Given the description of an element on the screen output the (x, y) to click on. 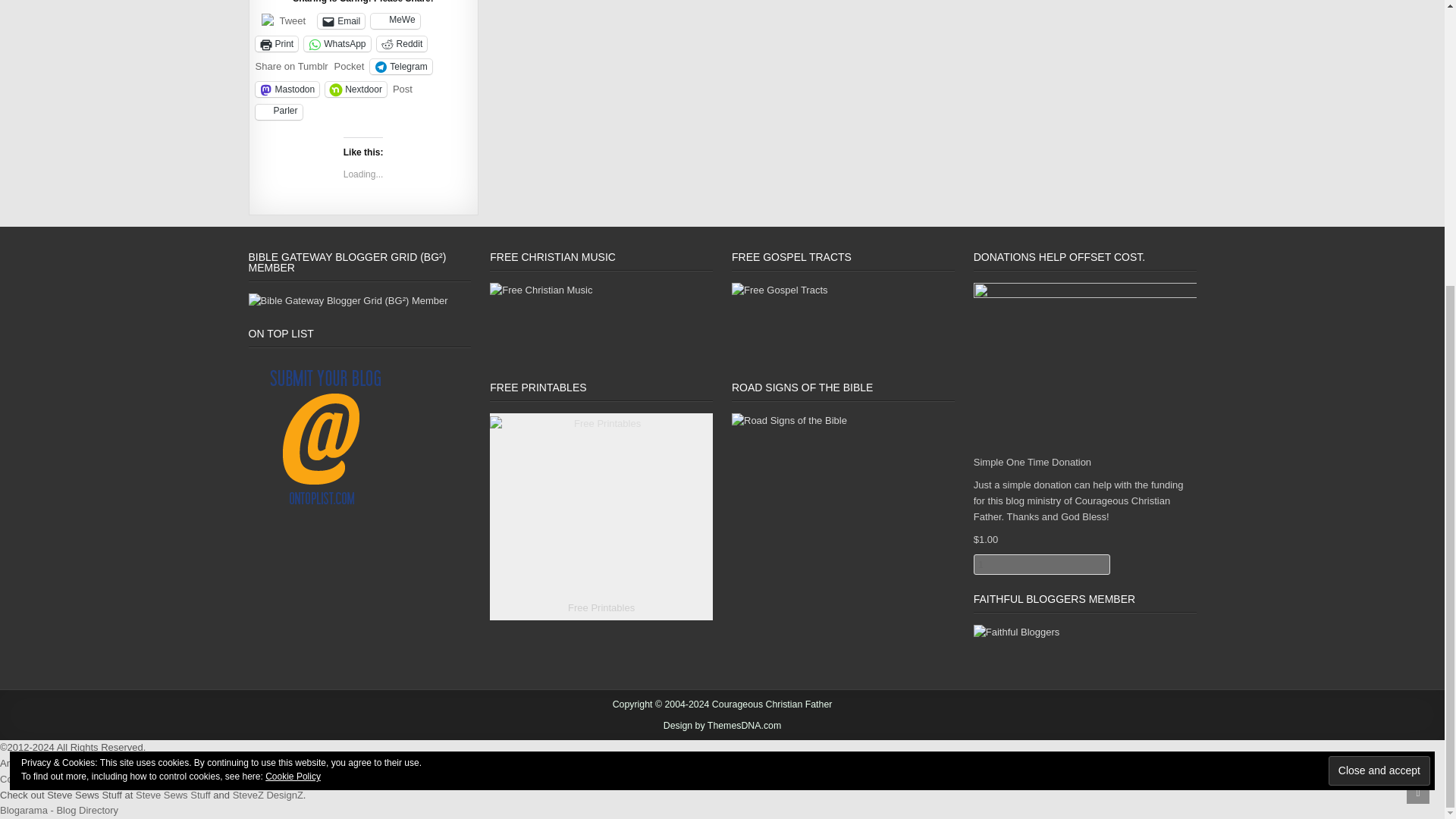
Tweet (292, 20)
MeWe (395, 20)
Reddit (402, 43)
Click to email a link to a friend (341, 20)
Click to share on WhatsApp (336, 43)
WhatsApp (336, 43)
Click to share on Reddit (402, 43)
Click to share on MeWe (395, 20)
Email (341, 20)
1 (1041, 564)
